Given the description of an element on the screen output the (x, y) to click on. 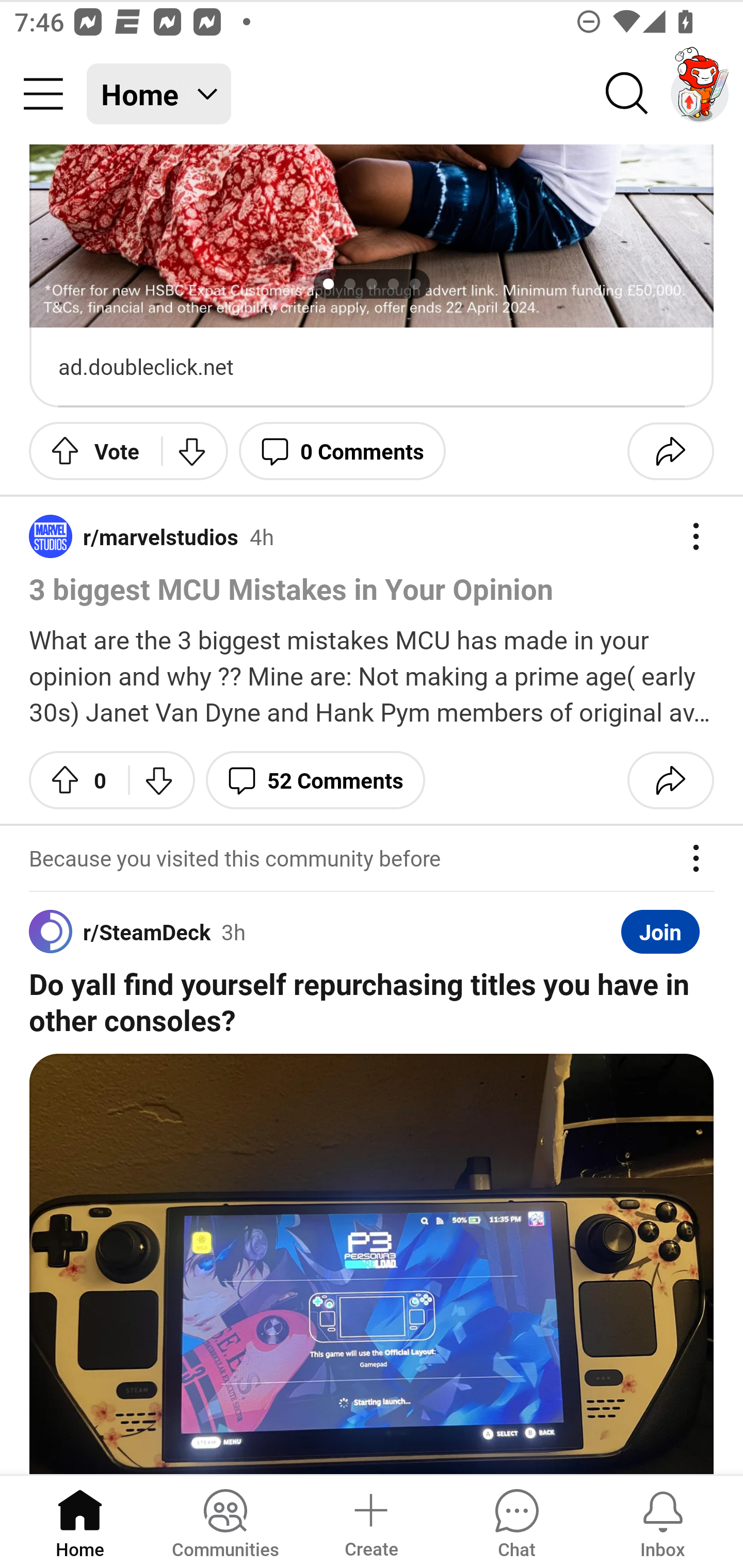
Community menu (43, 93)
Home Home feed (158, 93)
Search (626, 93)
TestAppium002 account (699, 93)
Image 1 of 5 (371, 235)
Home (80, 1520)
Communities (225, 1520)
Create a post Create (370, 1520)
Chat (516, 1520)
Inbox (662, 1520)
